Given the description of an element on the screen output the (x, y) to click on. 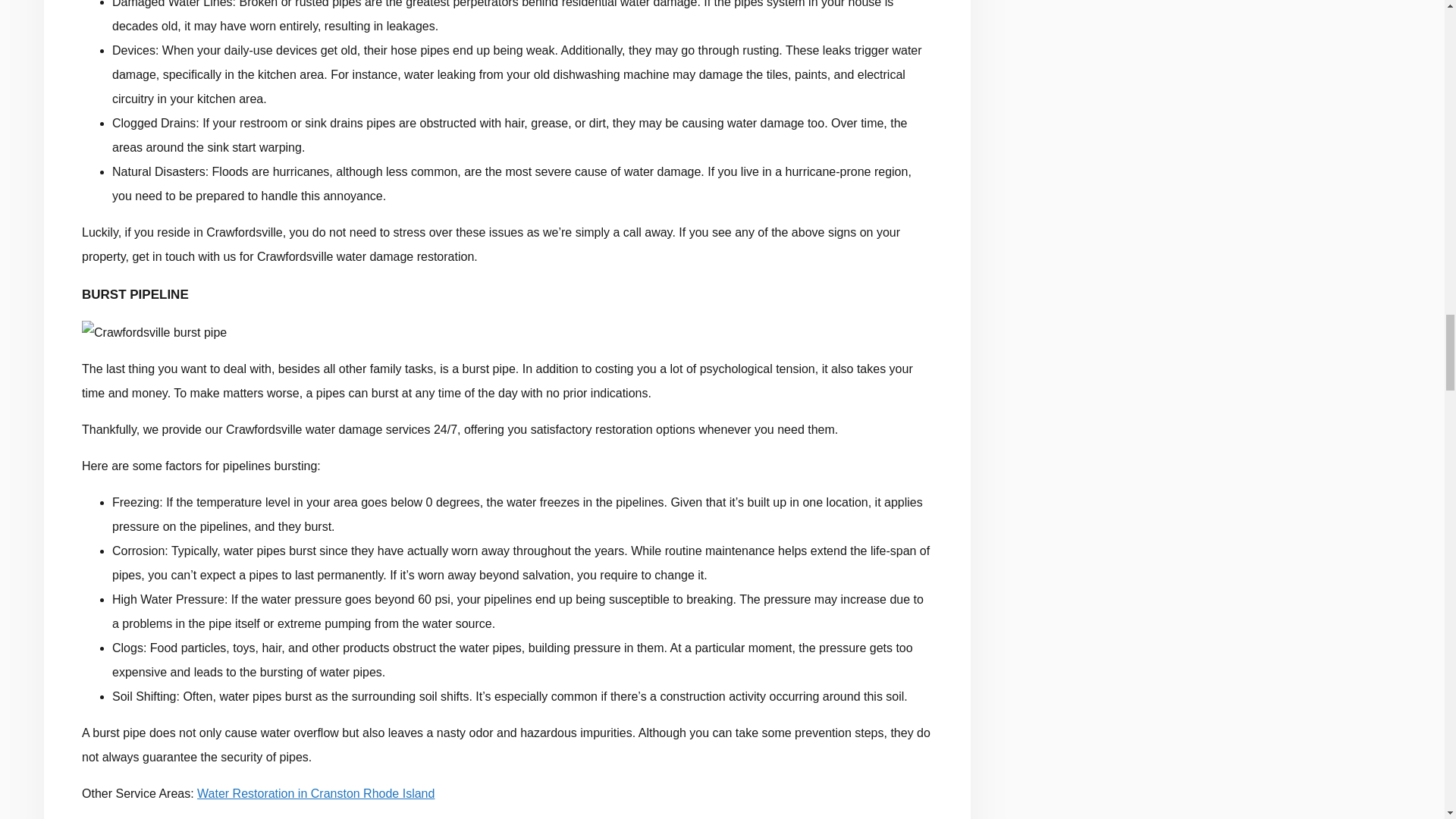
Water Restoration in Cranston Rhode Island (314, 793)
